Given the description of an element on the screen output the (x, y) to click on. 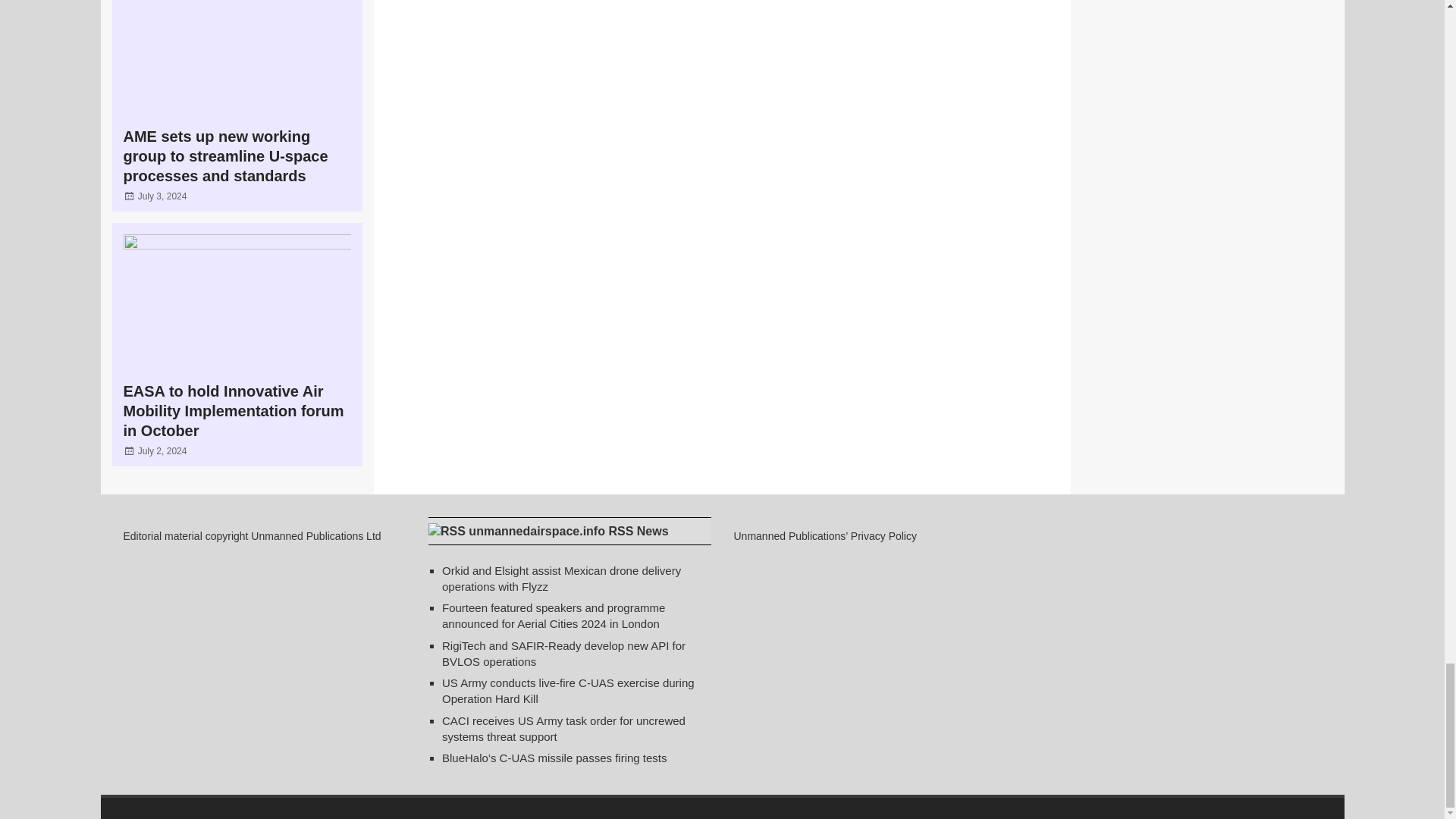
6:58 pm (162, 195)
12:16 pm (162, 450)
